Given the description of an element on the screen output the (x, y) to click on. 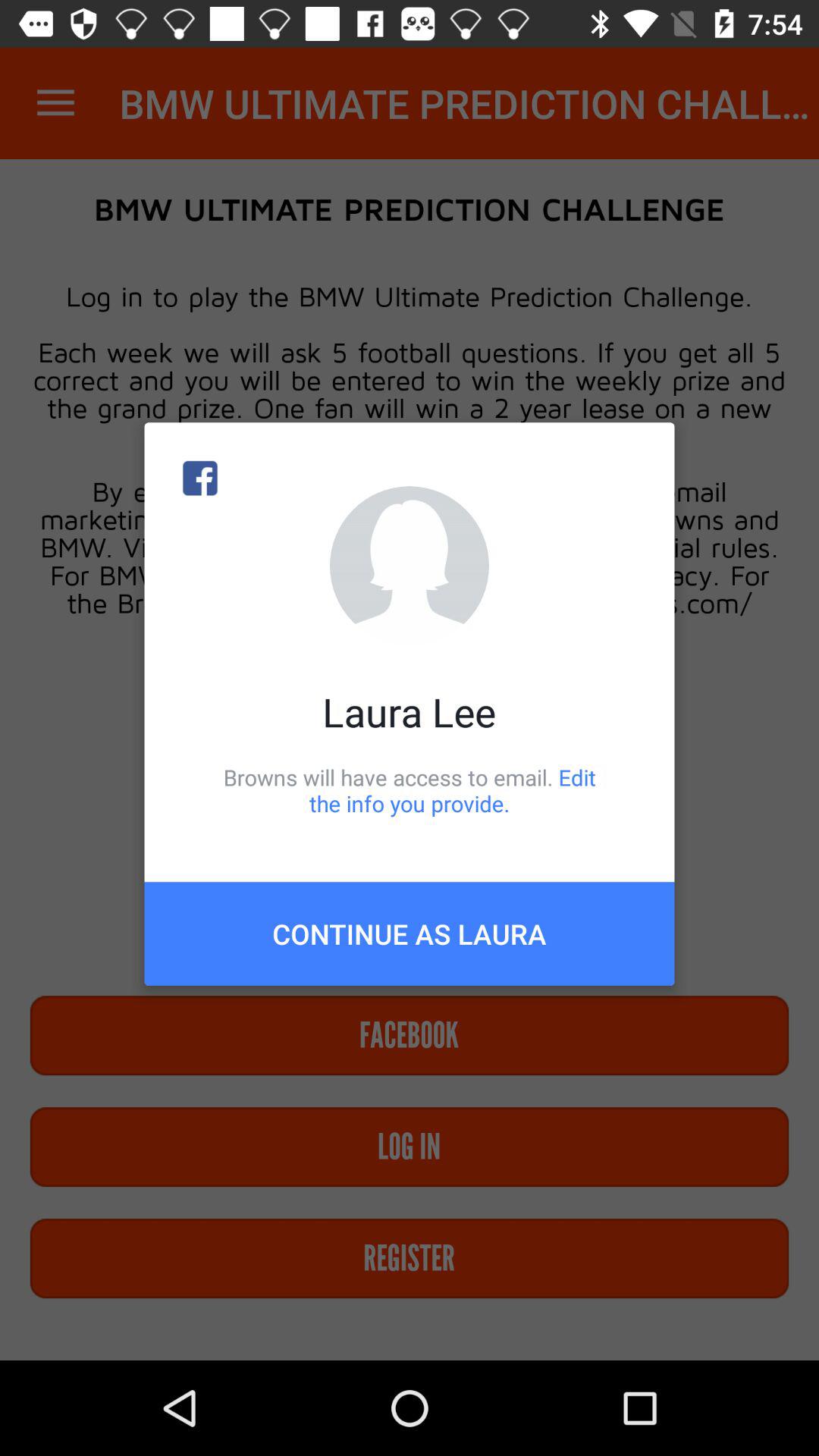
jump to the continue as laura item (409, 933)
